Given the description of an element on the screen output the (x, y) to click on. 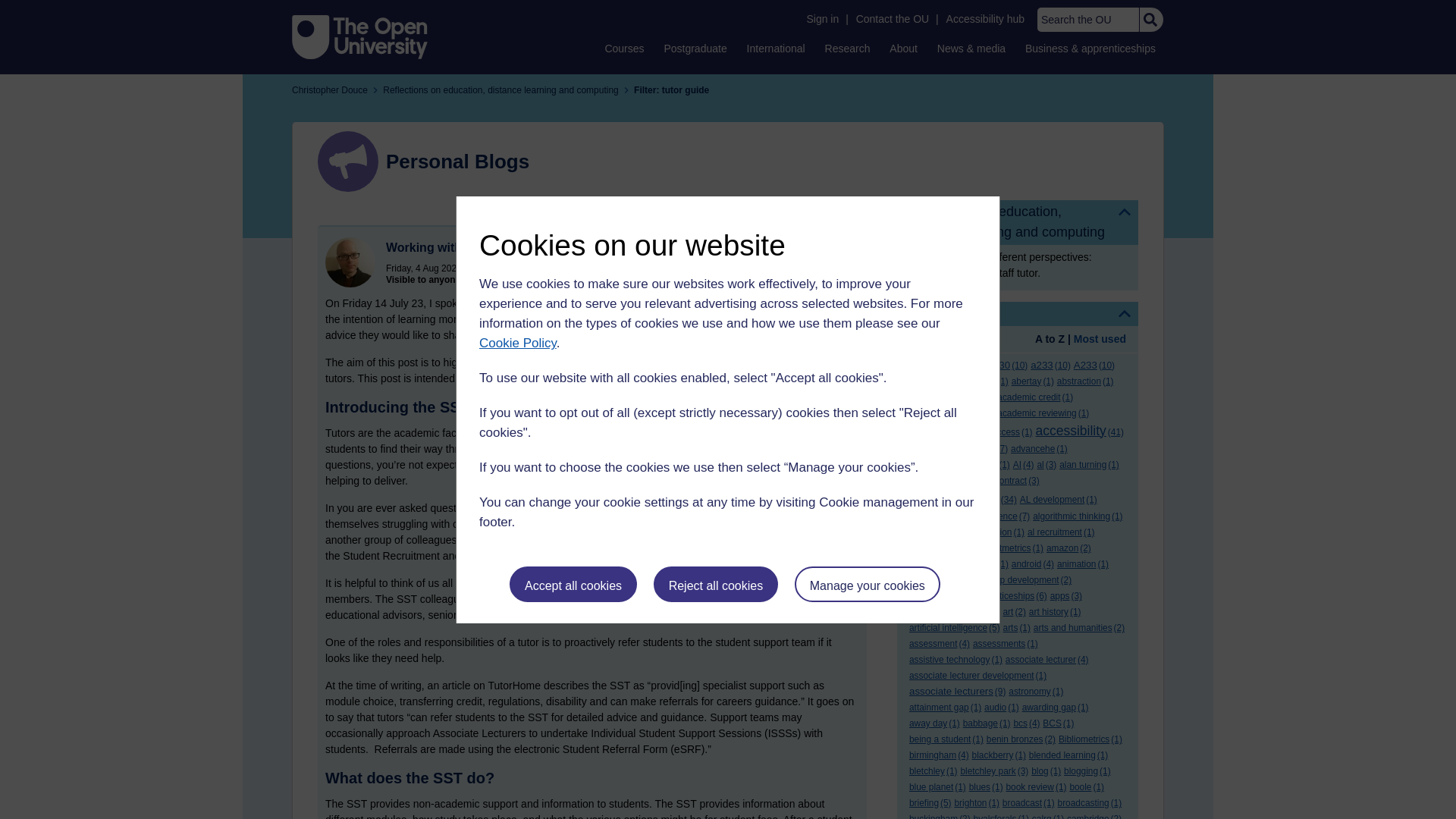
Reject all cookies (715, 583)
Courses (623, 48)
Reflections on education, distance learning and computing (1017, 221)
Research (847, 48)
Help with Order: (951, 340)
Cookie Policy (517, 342)
Accessibility hub (985, 19)
Manage your cookies (867, 583)
Contact the OU (892, 19)
